Given the description of an element on the screen output the (x, y) to click on. 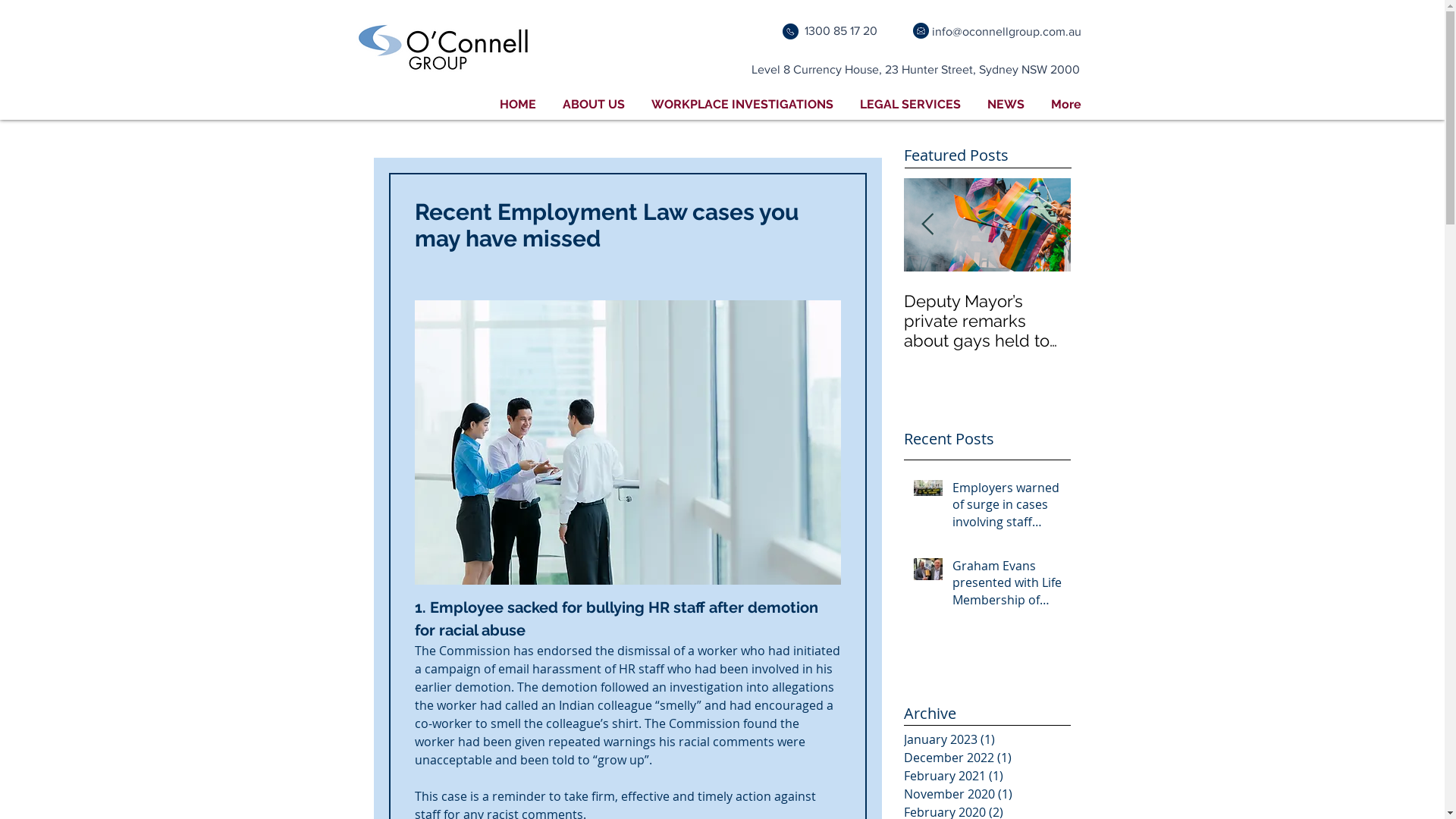
December 2022 (1) Element type: text (983, 757)
info@oconnellgroup.com.au Element type: text (1005, 31)
Employers warned of surge in cases involving staff beliefs Element type: text (1006, 507)
February 2021 (1) Element type: text (983, 775)
ABOUT US Element type: text (593, 104)
LEGAL SERVICES Element type: text (909, 104)
2020 Practitioners' Professional Development Day Element type: text (986, 320)
November 2020 (1) Element type: text (983, 793)
WORKPLACE INVESTIGATIONS Element type: text (742, 104)
HOME Element type: text (517, 104)
January 2023 (1) Element type: text (983, 739)
NEWS Element type: text (1005, 104)
